Given the description of an element on the screen output the (x, y) to click on. 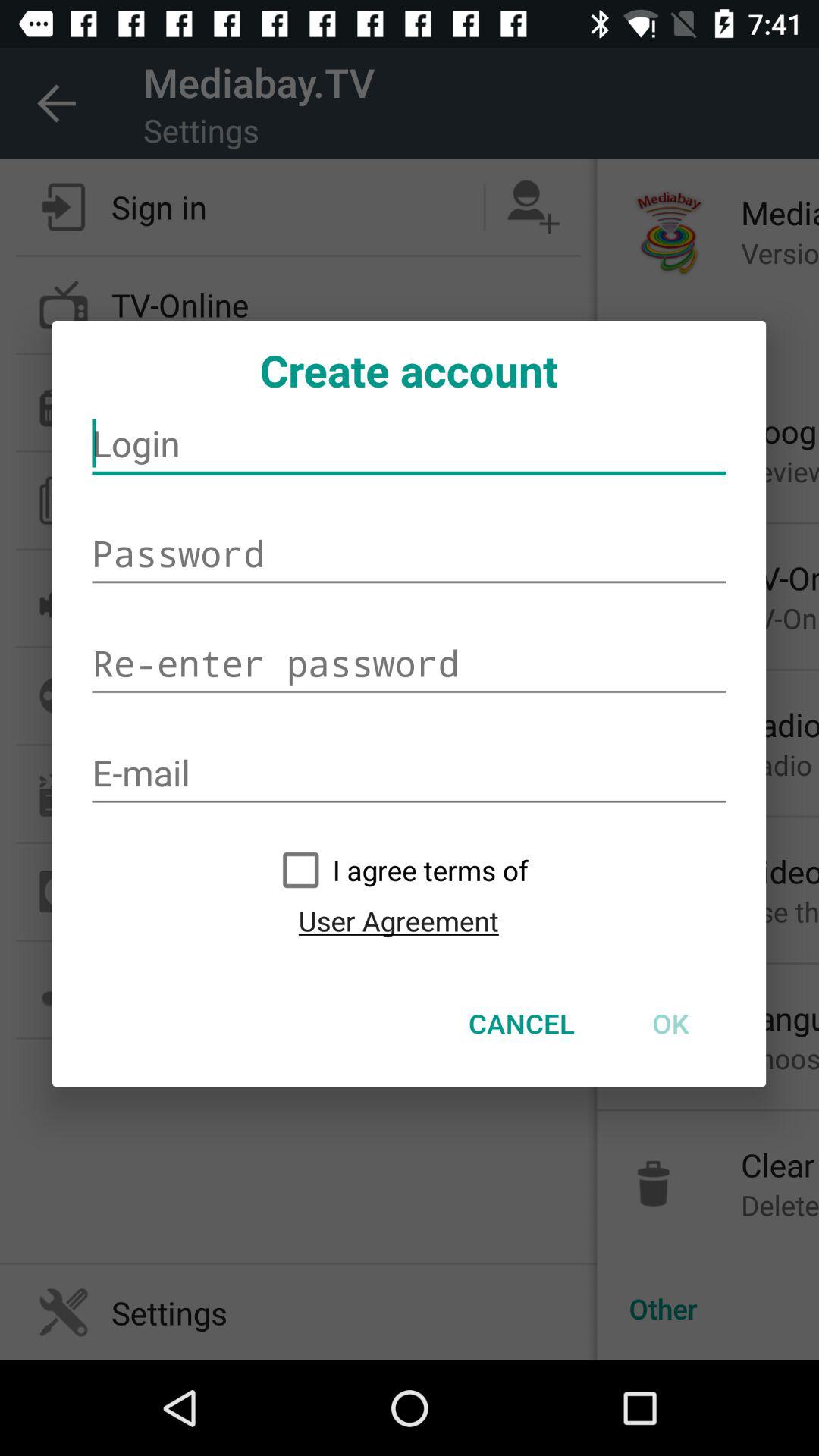
select the icon above user agreement (398, 870)
